Given the description of an element on the screen output the (x, y) to click on. 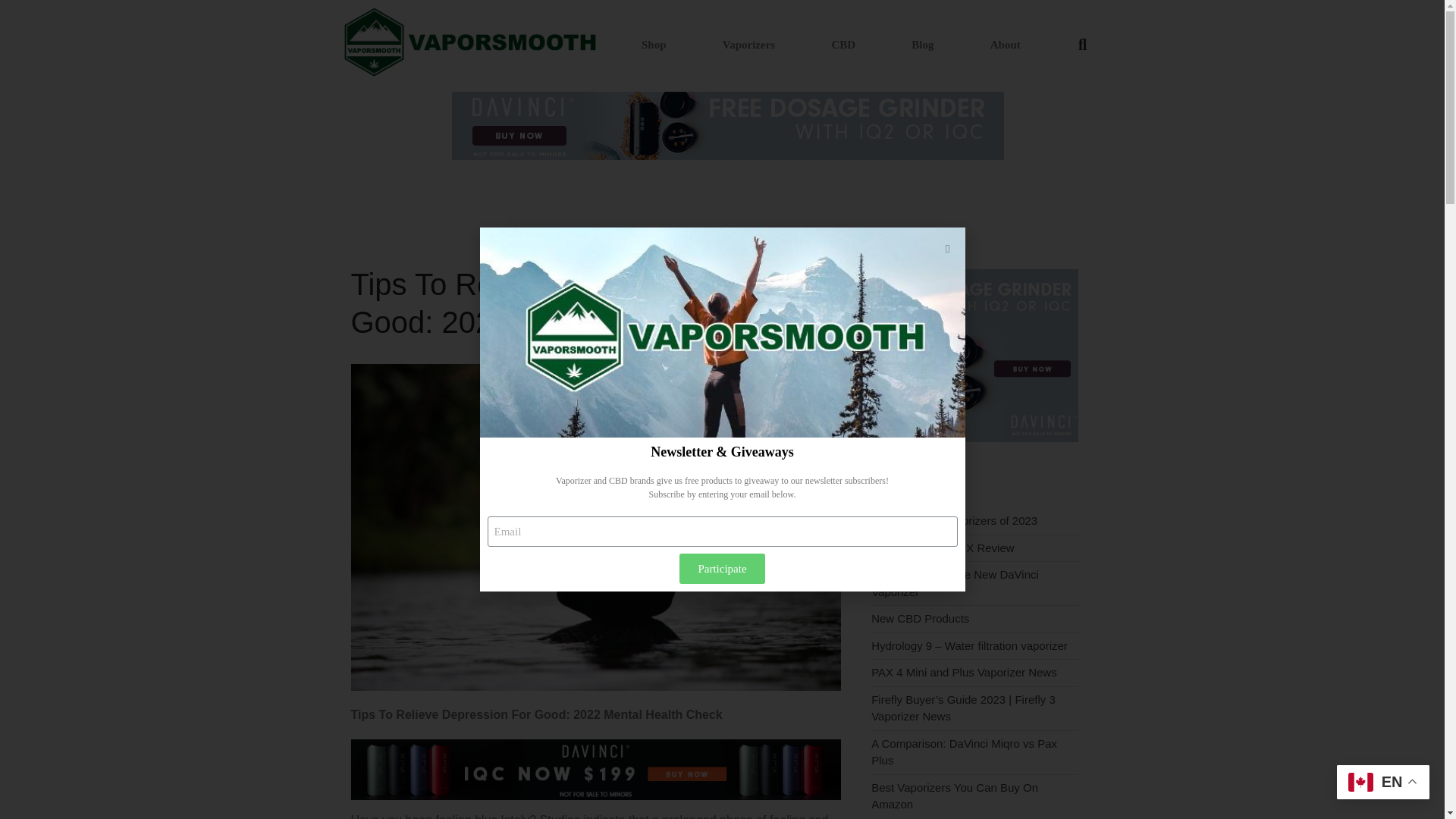
Davinci General (595, 795)
About (1005, 44)
Blog (921, 44)
Search (1356, 222)
Shop (653, 44)
Davinci General (727, 125)
Davinci General (974, 437)
Vaporizers (748, 44)
CBD (843, 44)
